Given the description of an element on the screen output the (x, y) to click on. 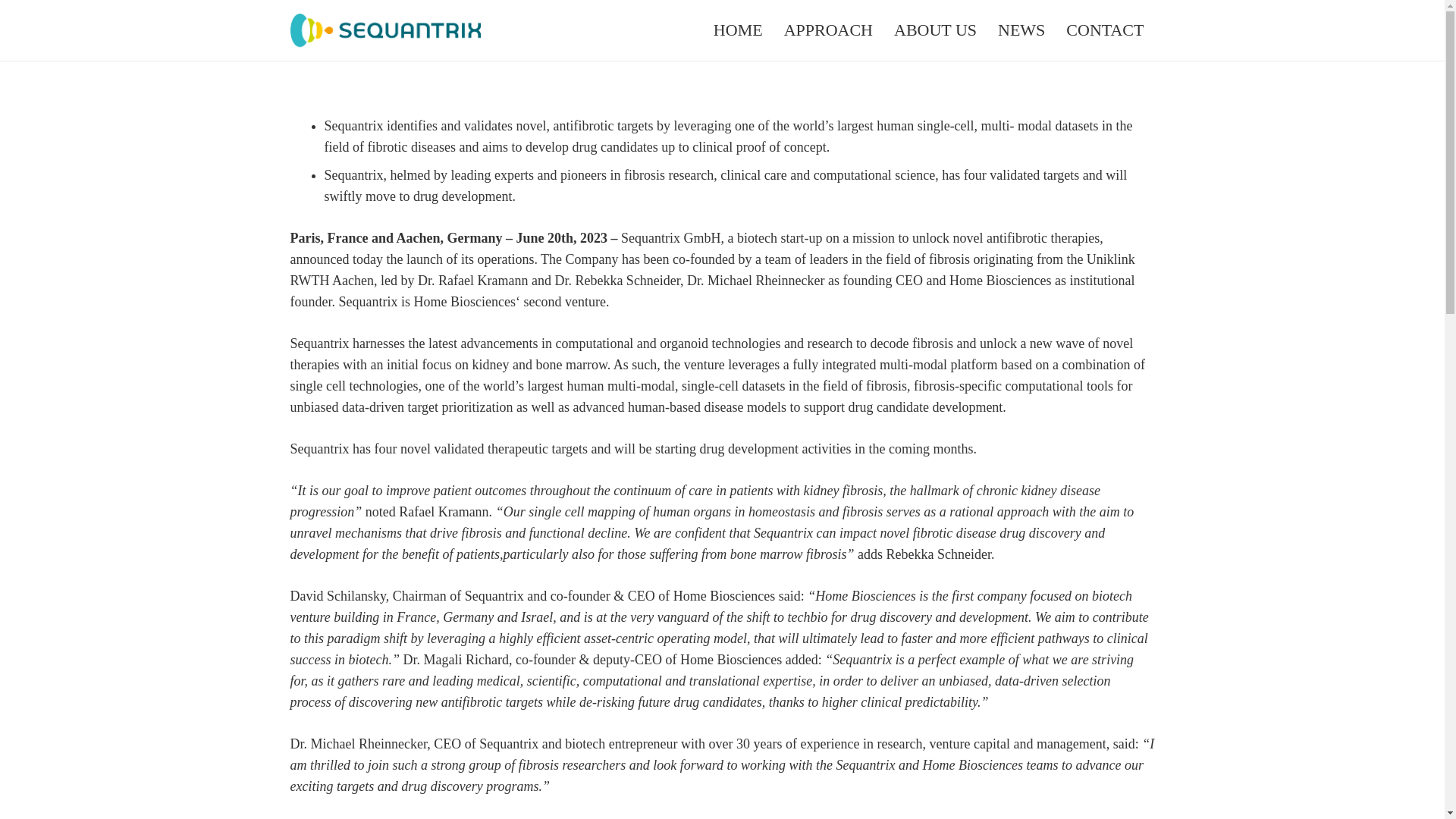
ABOUT US (935, 30)
CONTACT (1104, 30)
HOME (738, 30)
APPROACH (828, 30)
NEWS (1021, 30)
